Given the description of an element on the screen output the (x, y) to click on. 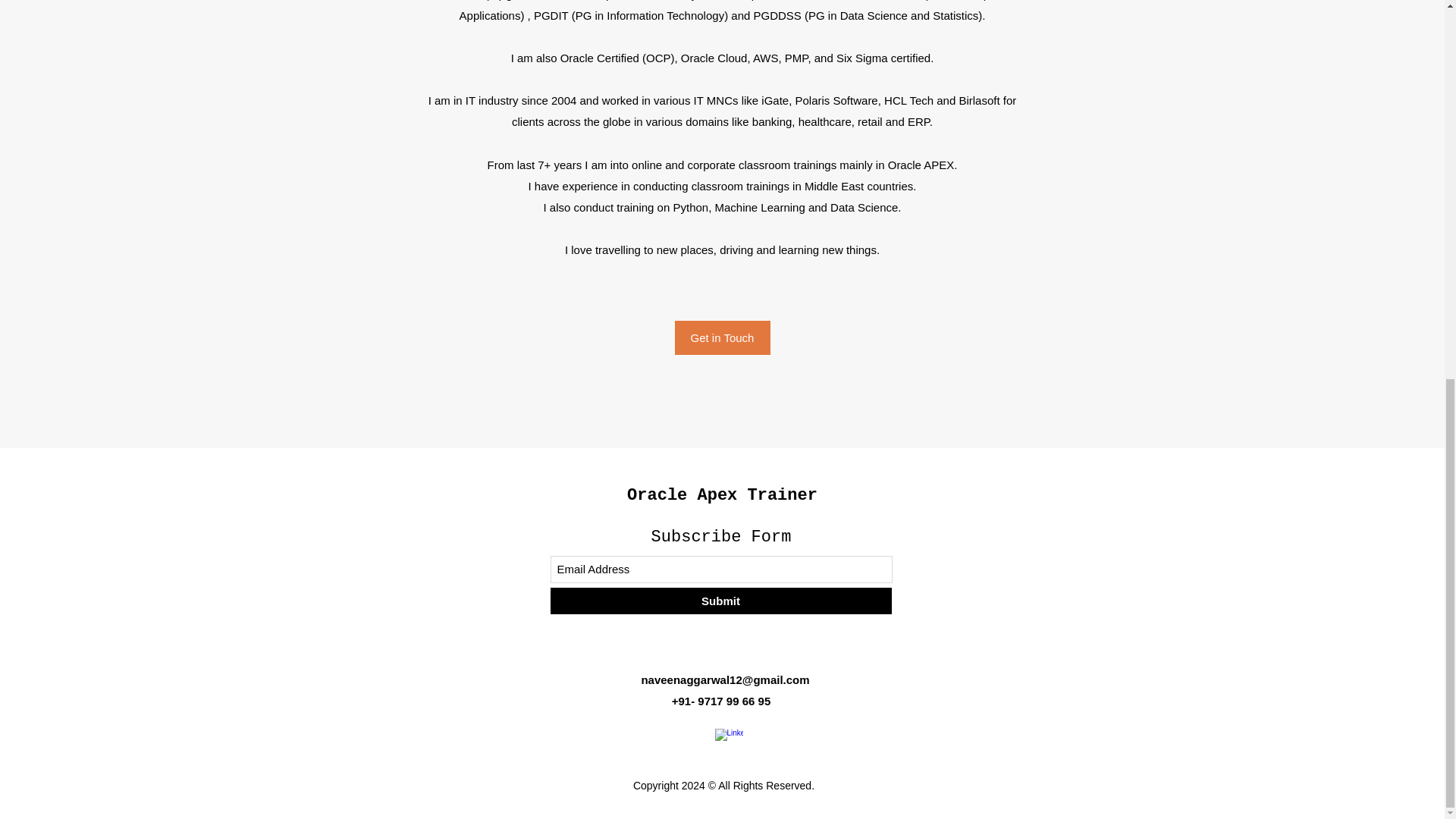
Submit (720, 601)
Get in Touch (722, 337)
Oracle Apex Trainer (721, 495)
